Given the description of an element on the screen output the (x, y) to click on. 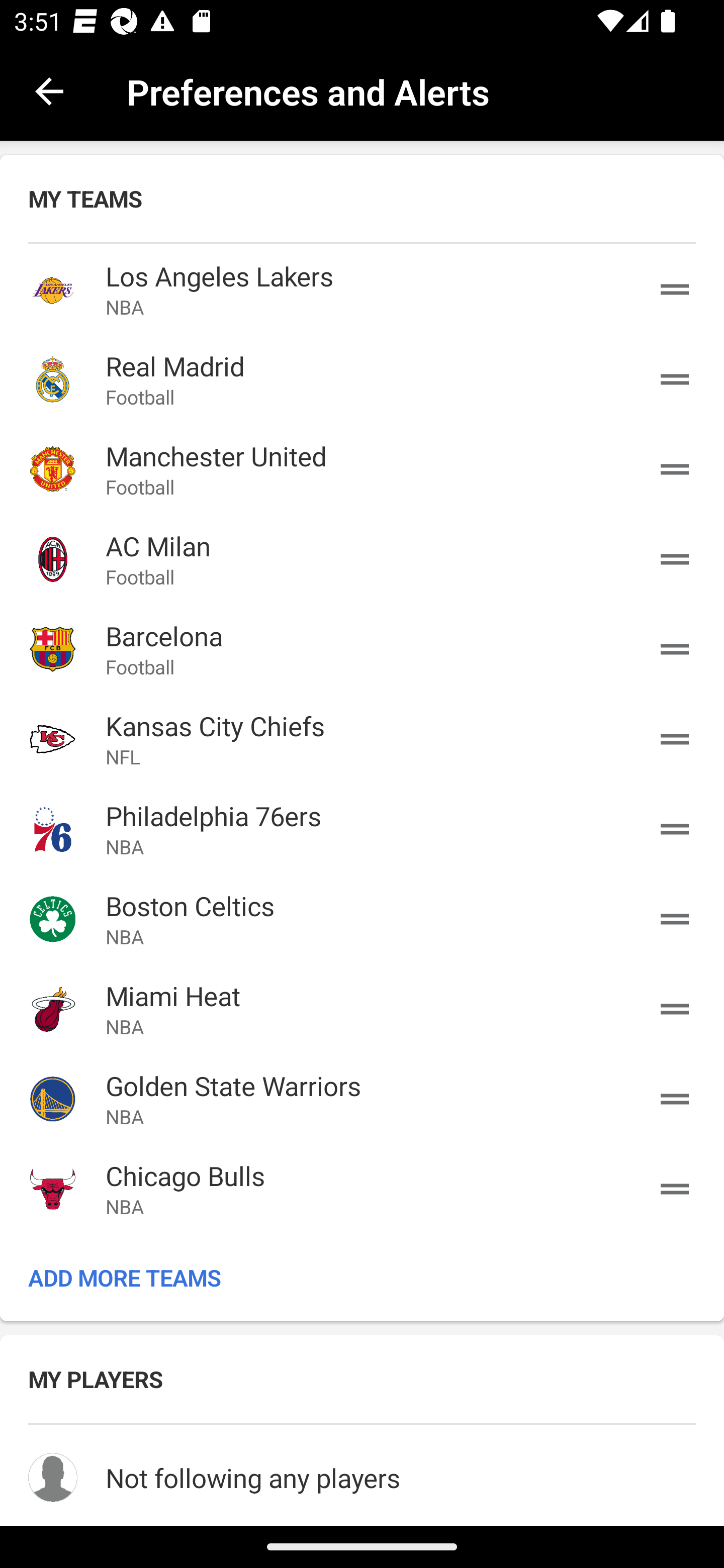
back.button (49, 90)
AC Milan AC Milan AC Milan Football Football (362, 558)
Barcelona Barcelona Barcelona Football Football (362, 648)
Miami Heat Miami Heat Miami Heat NBA NBA (362, 1008)
Chicago Bulls Chicago Bulls Chicago Bulls NBA NBA (362, 1188)
ADD MORE TEAMS (362, 1277)
